Given the description of an element on the screen output the (x, y) to click on. 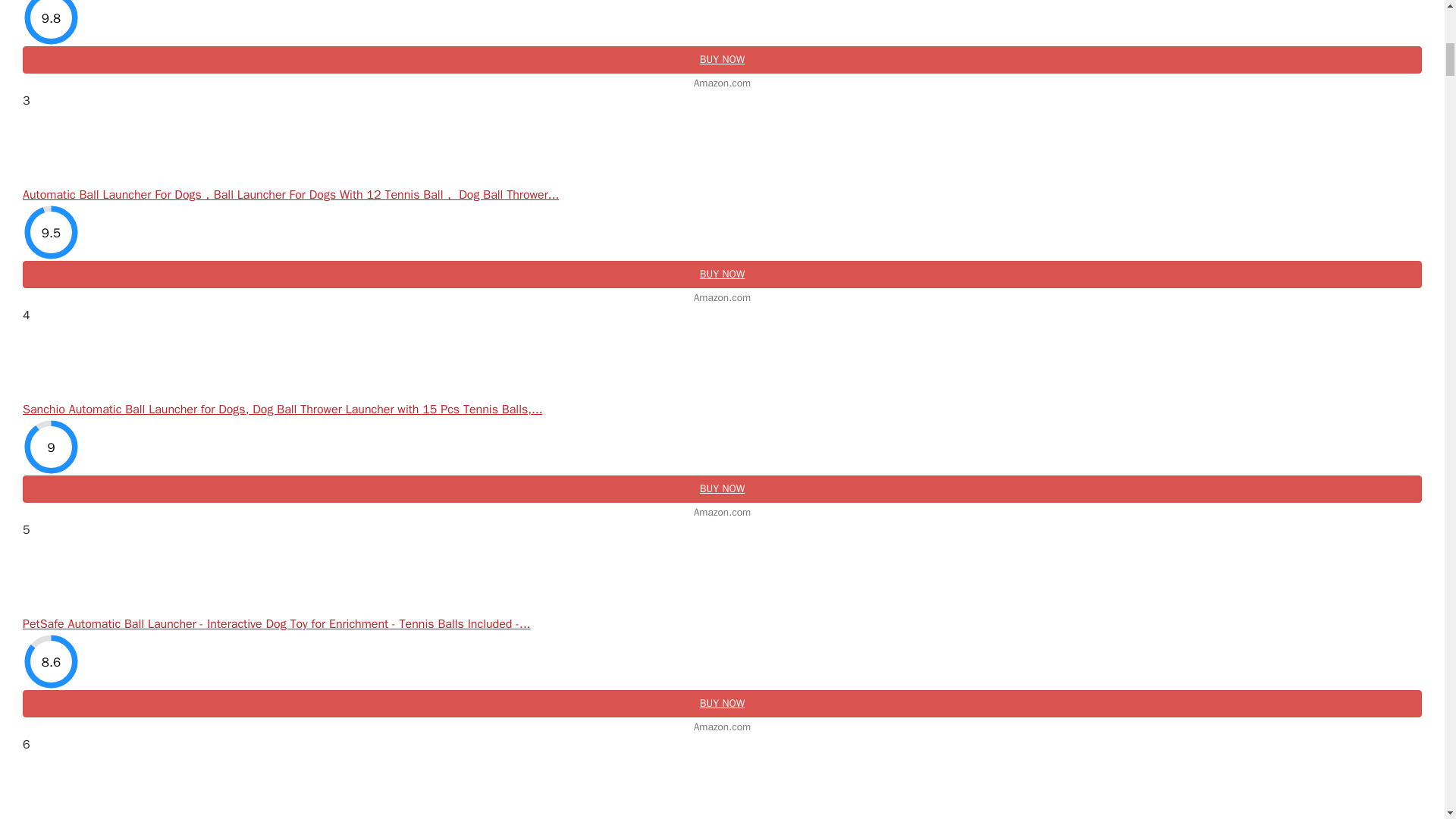
9.5 (51, 232)
9 (51, 446)
9.8 (51, 22)
8.6 (51, 661)
